Given the description of an element on the screen output the (x, y) to click on. 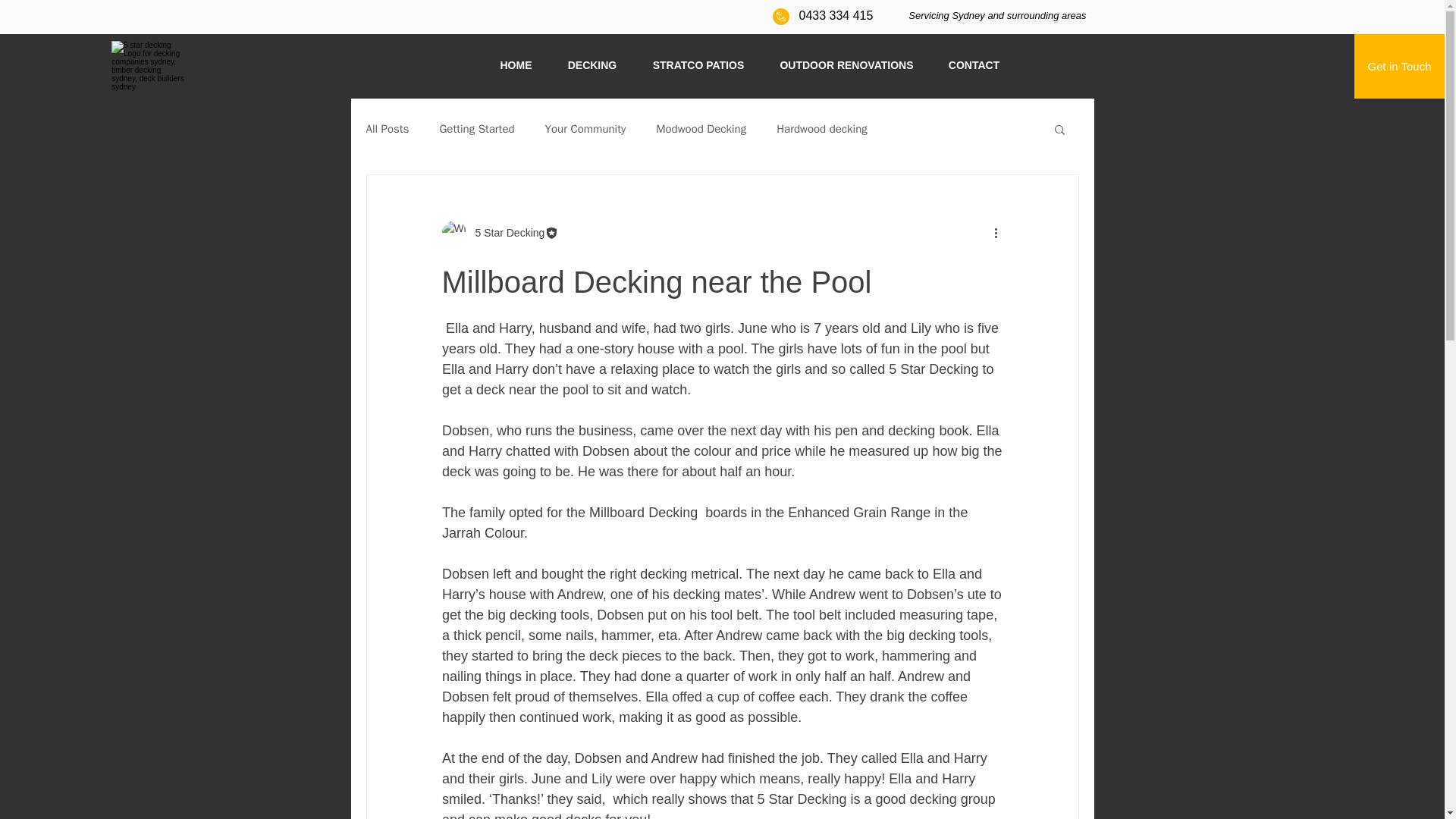
HOME (515, 65)
5 Star Decking (504, 232)
Your Community (585, 128)
Modwood Decking (700, 128)
Getting Started (476, 128)
5 Star Decking (500, 232)
Hardwood decking (821, 128)
All Posts (387, 128)
DECKING (592, 65)
STRATCO PATIOS (697, 65)
